Given the description of an element on the screen output the (x, y) to click on. 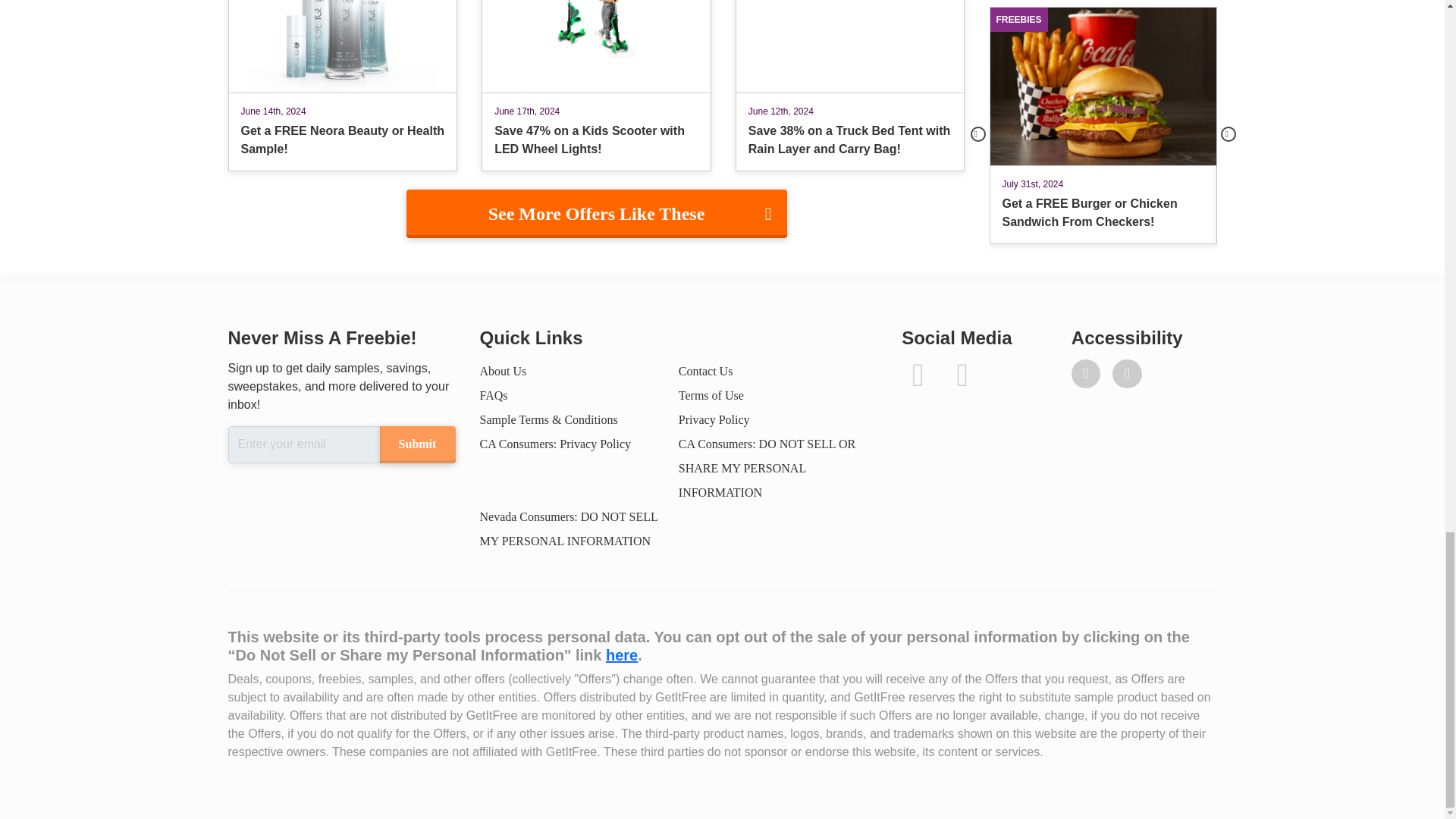
Contact Us (705, 370)
Privacy Policy (713, 419)
Terms of Use (711, 395)
CA Consumers: DO NOT SELL OR SHARE MY PERSONAL INFORMATION (767, 467)
FAQs (492, 395)
See More Offers Like These (596, 213)
CA Consumers: Privacy Policy (554, 443)
Submit (416, 444)
About Us (502, 370)
